Given the description of an element on the screen output the (x, y) to click on. 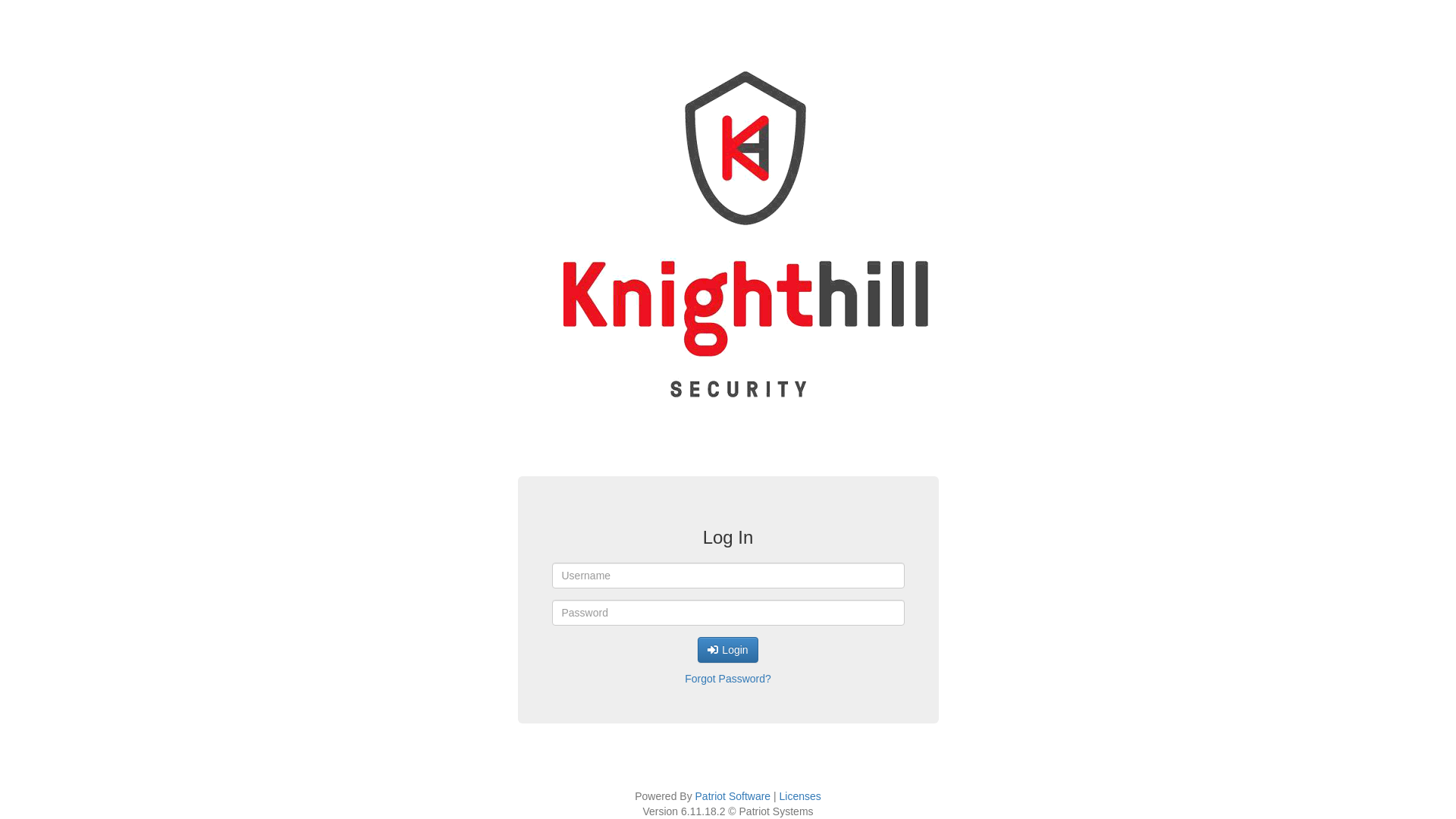
Patriot Software Element type: text (733, 796)
Login Element type: text (727, 649)
Forgot Password? Element type: text (727, 678)
Licenses Element type: text (800, 796)
